Given the description of an element on the screen output the (x, y) to click on. 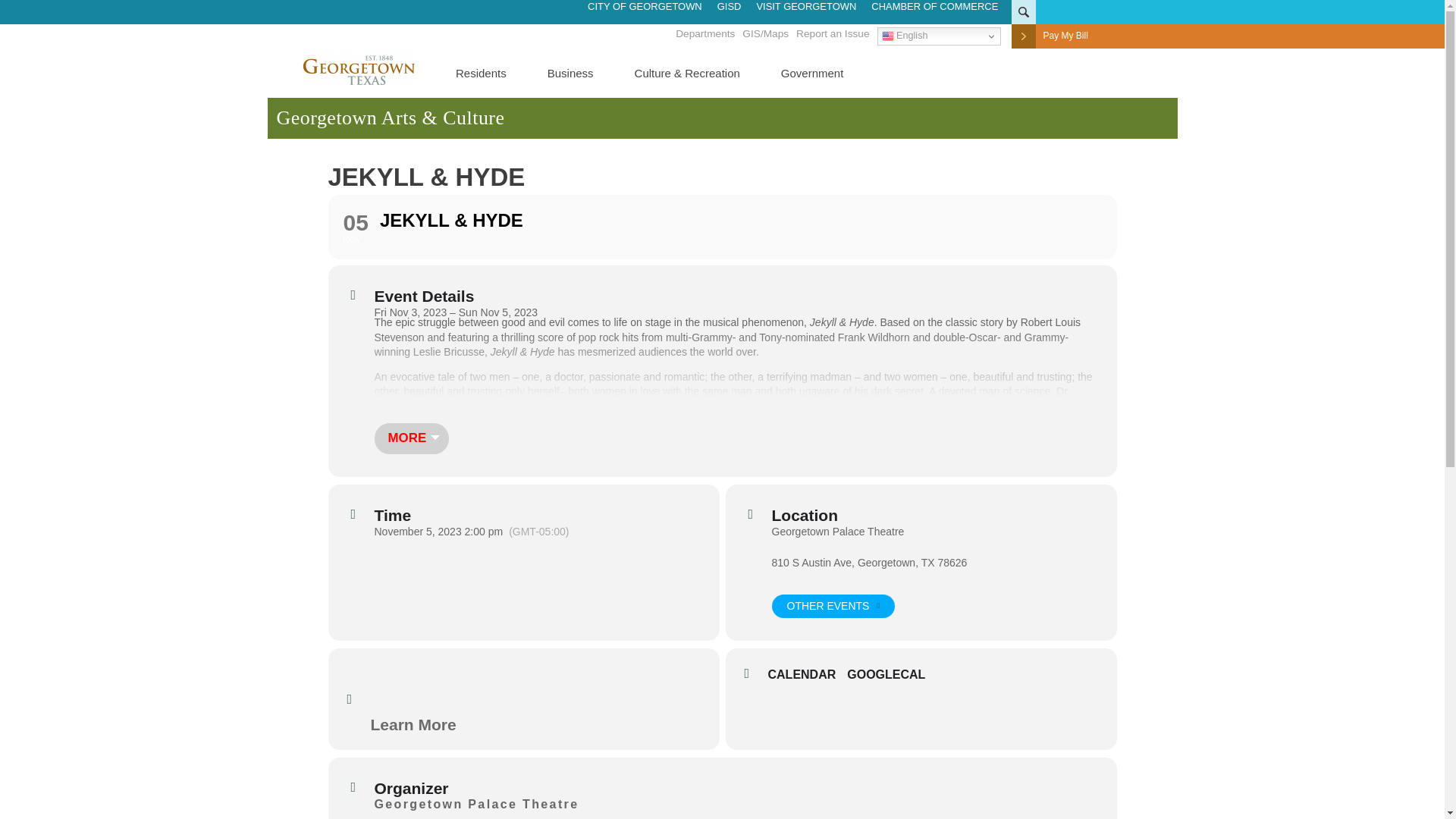
Pay My Bill (1065, 35)
GISD (729, 6)
CITY OF GEORGETOWN (644, 6)
English (938, 36)
City of Georgetown Texas (358, 67)
Add to google calendar (891, 674)
Report an Issue (832, 33)
CHAMBER OF COMMERCE   (936, 6)
VISIT GEORGETOWN (805, 6)
Departments (705, 33)
Add to your calendar (807, 674)
